Given the description of an element on the screen output the (x, y) to click on. 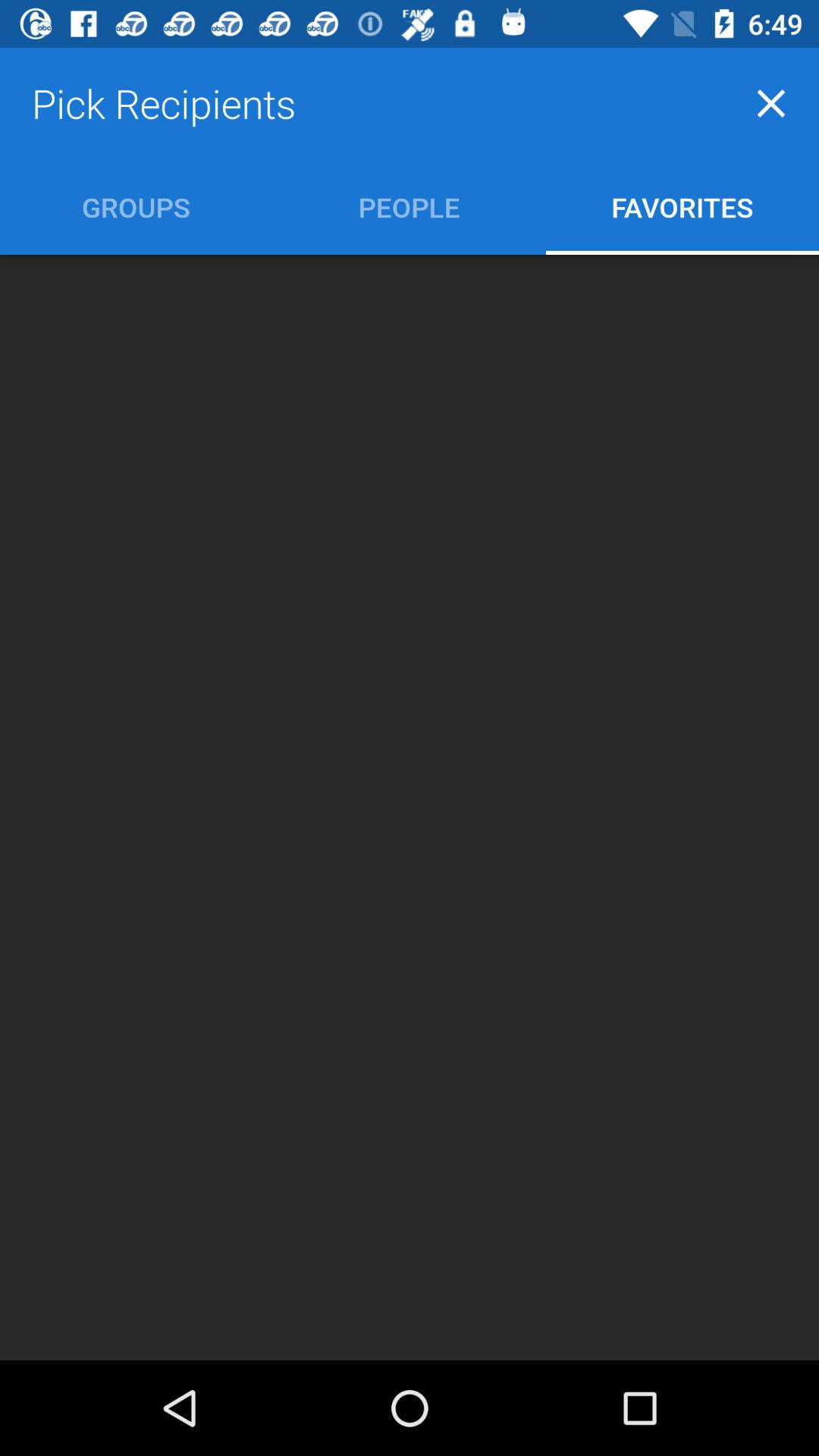
press the item at the center (409, 807)
